Given the description of an element on the screen output the (x, y) to click on. 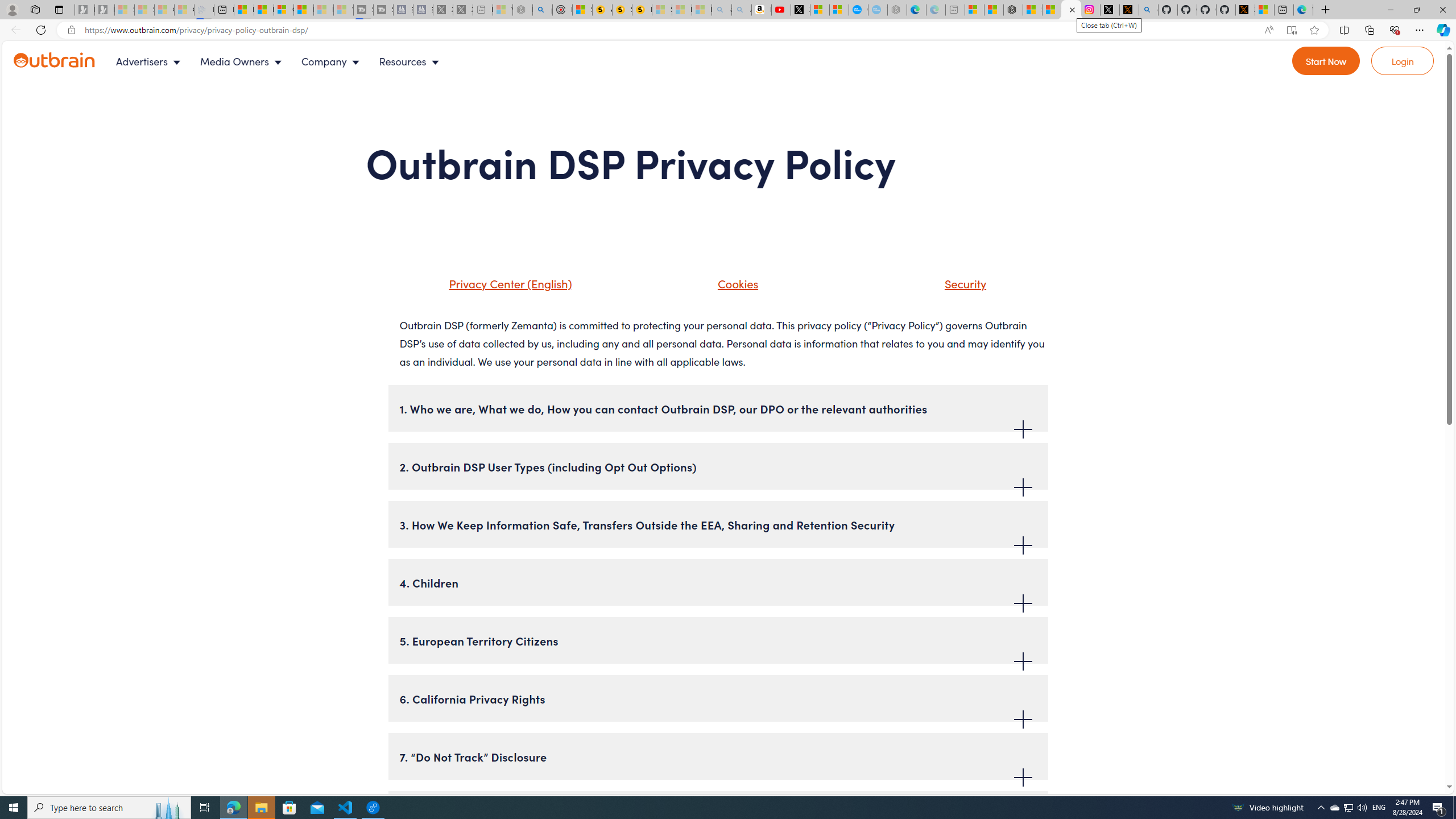
Go to Register (1325, 60)
Nordace - Nordace has arrived Hong Kong - Sleeping (896, 9)
Microsoft account | Microsoft Account Privacy Settings (973, 9)
X Privacy Policy (1244, 9)
help.x.com | 524: A timeout occurred (1129, 9)
Nordace - Summer Adventures 2024 - Sleeping (522, 9)
Security (963, 282)
Media Owners (242, 61)
